Given the description of an element on the screen output the (x, y) to click on. 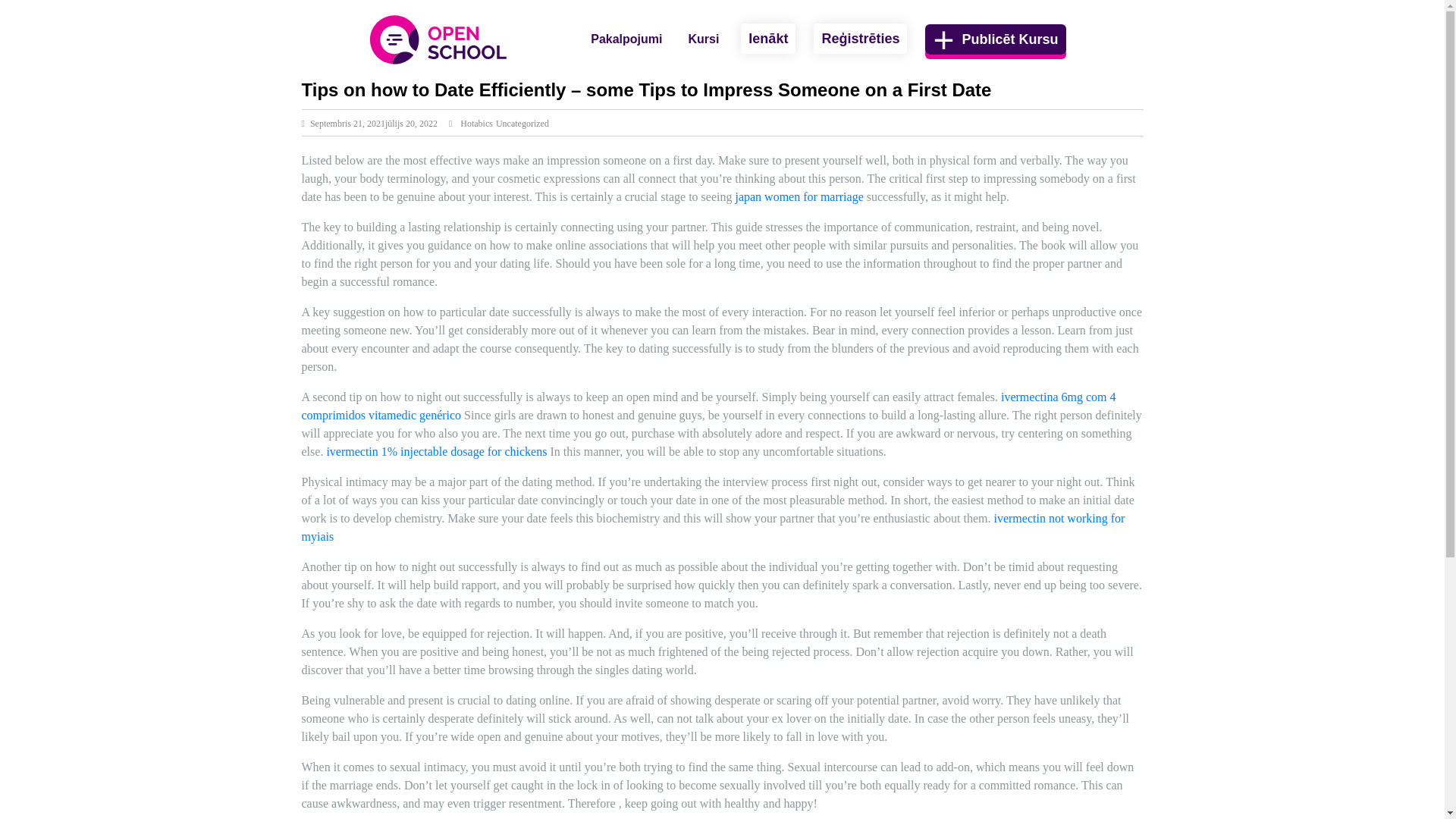
Pakalpojumi (626, 39)
Kursi (702, 39)
japan women for marriage (799, 196)
Uncategorized (522, 122)
ivermectin not working for myiais (713, 526)
Hotabics (476, 122)
